Given the description of an element on the screen output the (x, y) to click on. 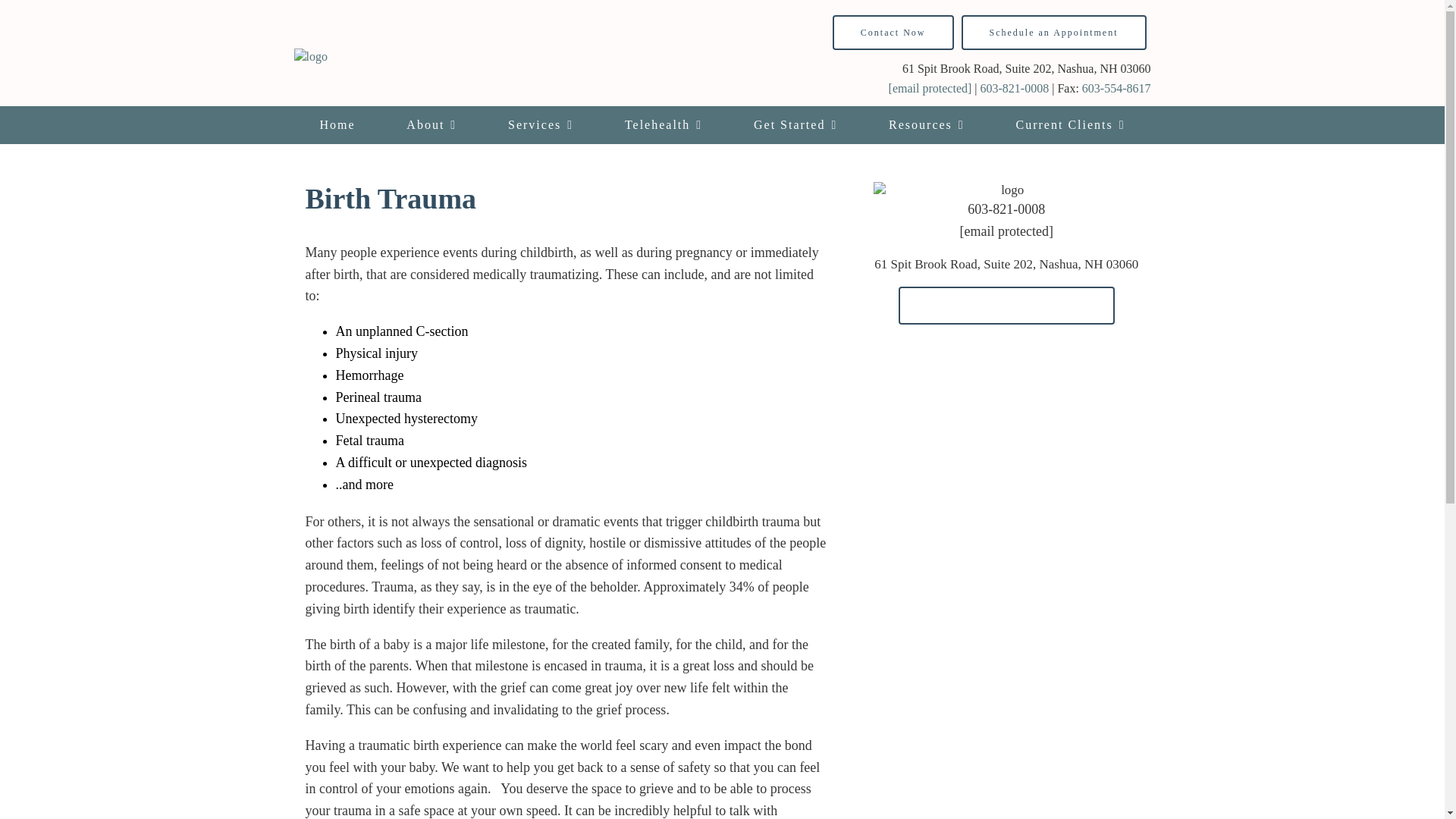
Current Clients (1070, 125)
Telehealth (663, 125)
Resources (926, 125)
Services (539, 125)
About (430, 125)
Get Started (795, 125)
Home (337, 125)
